Given the description of an element on the screen output the (x, y) to click on. 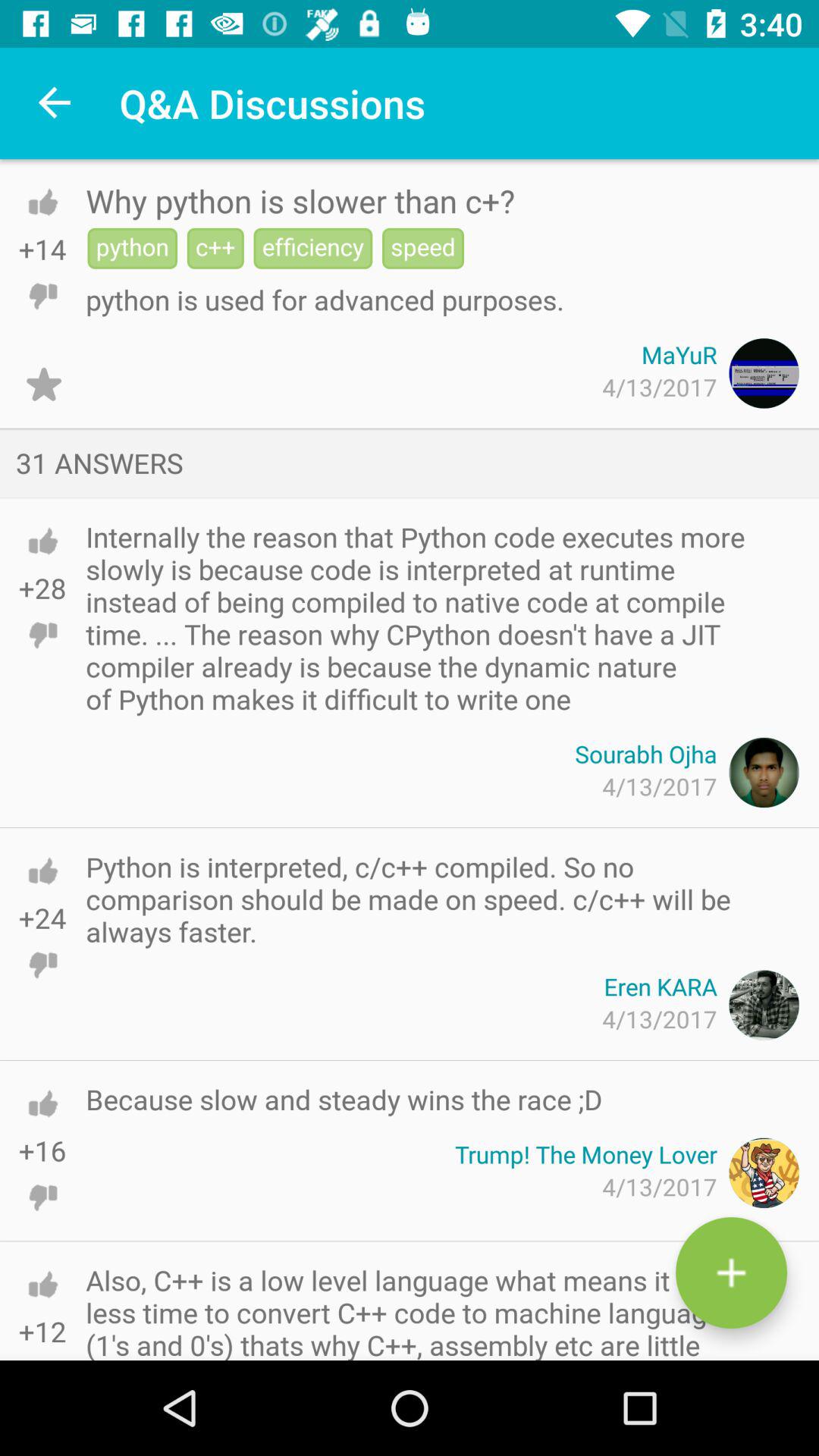
like comment (42, 541)
